Given the description of an element on the screen output the (x, y) to click on. 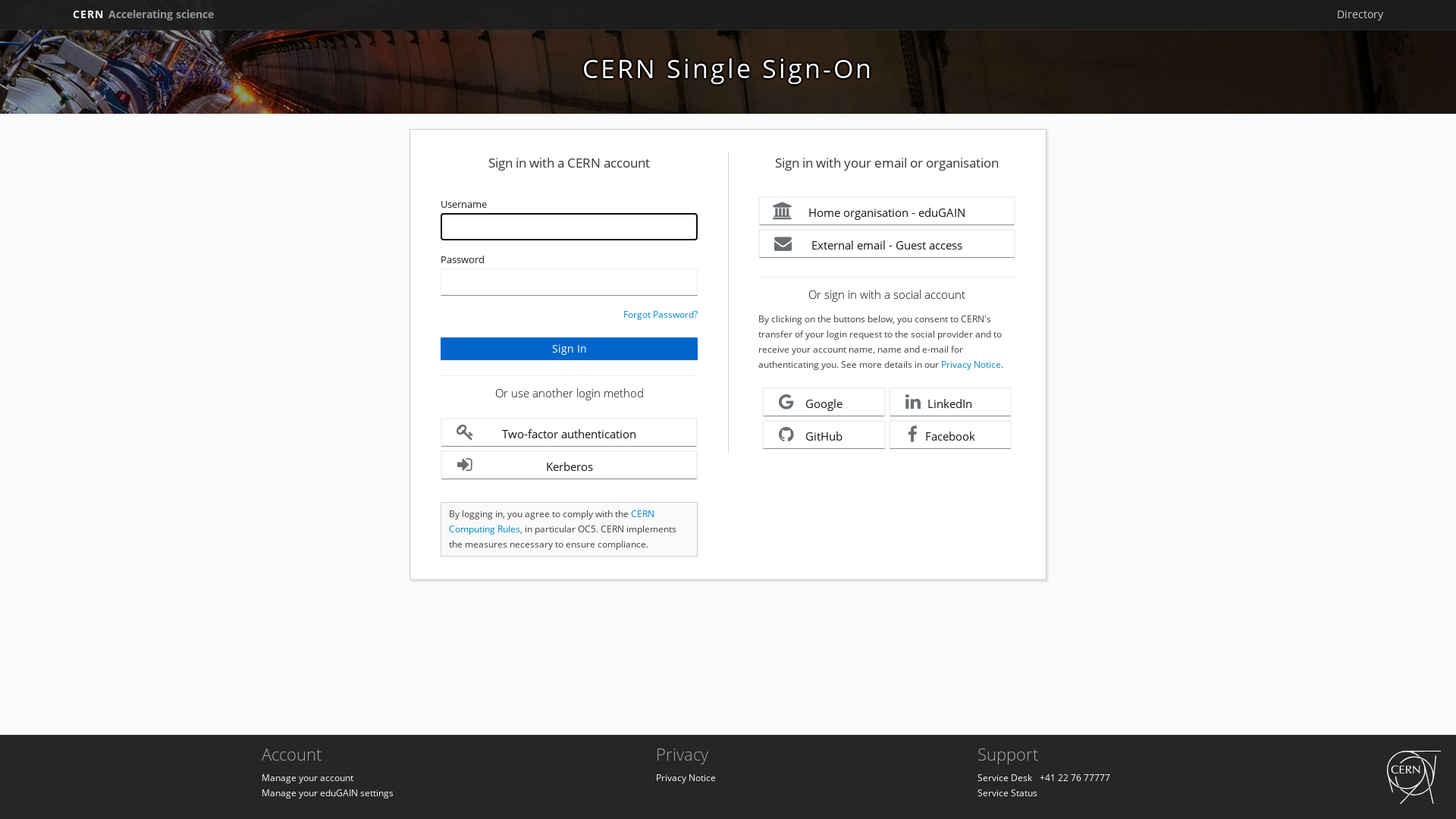
Facebook Element type: text (950, 434)
CERN Computing Rules Element type: text (551, 521)
Home organisation - eduGAIN Element type: text (886, 210)
Manage your eduGAIN settings Element type: text (327, 792)
Privacy Notice Element type: text (685, 777)
Directory Element type: text (1359, 14)
Sign In Element type: text (568, 348)
GitHub Element type: text (823, 434)
+41 22 76 77777 Element type: text (1074, 777)
External email - Guest access Element type: text (886, 243)
Service Status Element type: text (1007, 792)
Google Element type: text (823, 402)
Two-factor authentication Element type: text (568, 432)
LinkedIn Element type: text (950, 402)
Service Desk Element type: text (1004, 777)
Privacy Notice Element type: text (971, 363)
Kerberos Element type: text (568, 465)
CERN Accelerating science Element type: text (142, 14)
Forgot Password? Element type: text (660, 313)
Manage your account Element type: text (307, 777)
